Given the description of an element on the screen output the (x, y) to click on. 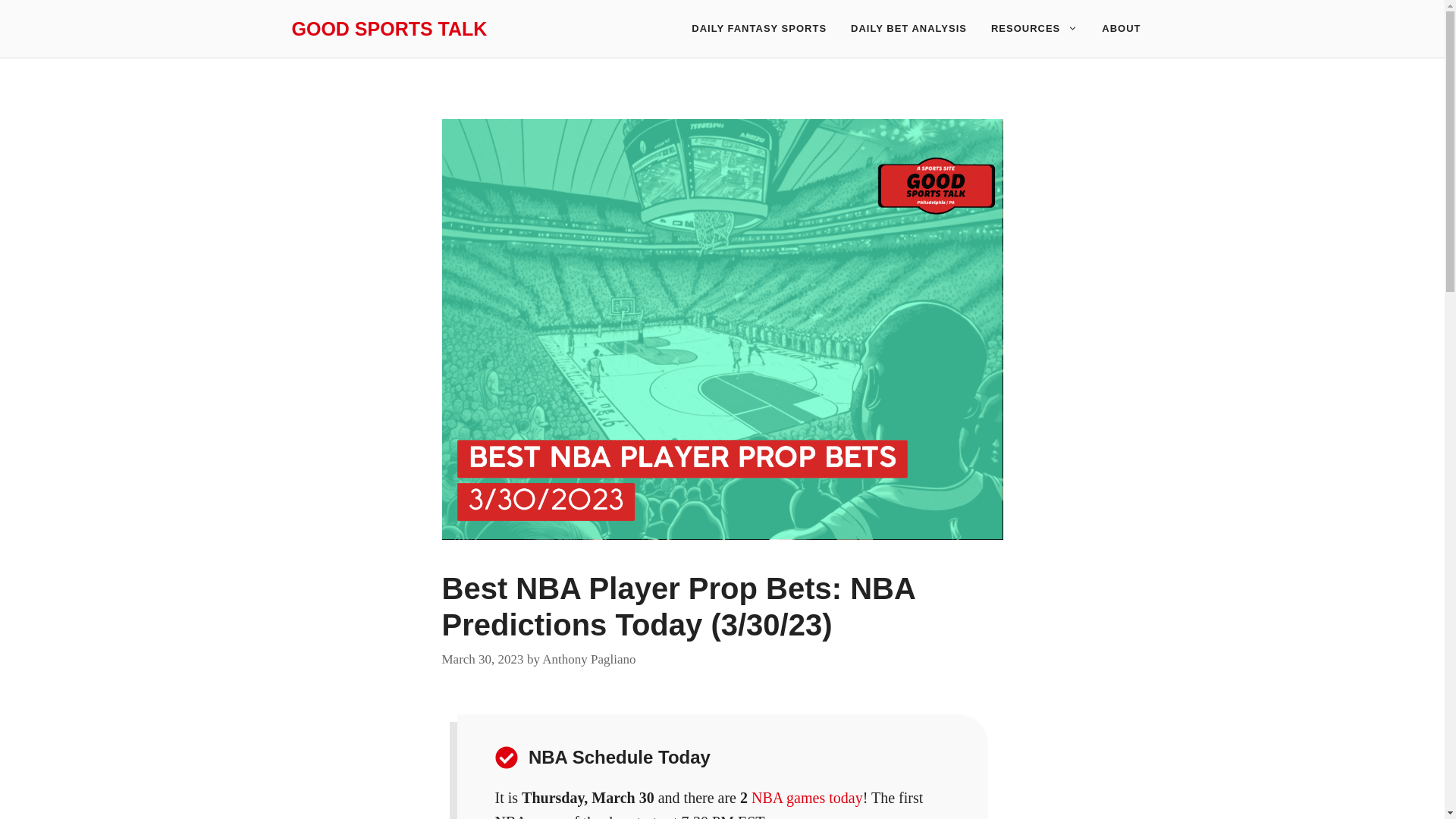
View all posts by Anthony Pagliano (587, 658)
GOOD SPORTS TALK (388, 28)
RESOURCES (1033, 28)
DAILY FANTASY SPORTS (758, 28)
NBA games today (807, 797)
DAILY BET ANALYSIS (908, 28)
ABOUT (1121, 28)
Anthony Pagliano (587, 658)
